Given the description of an element on the screen output the (x, y) to click on. 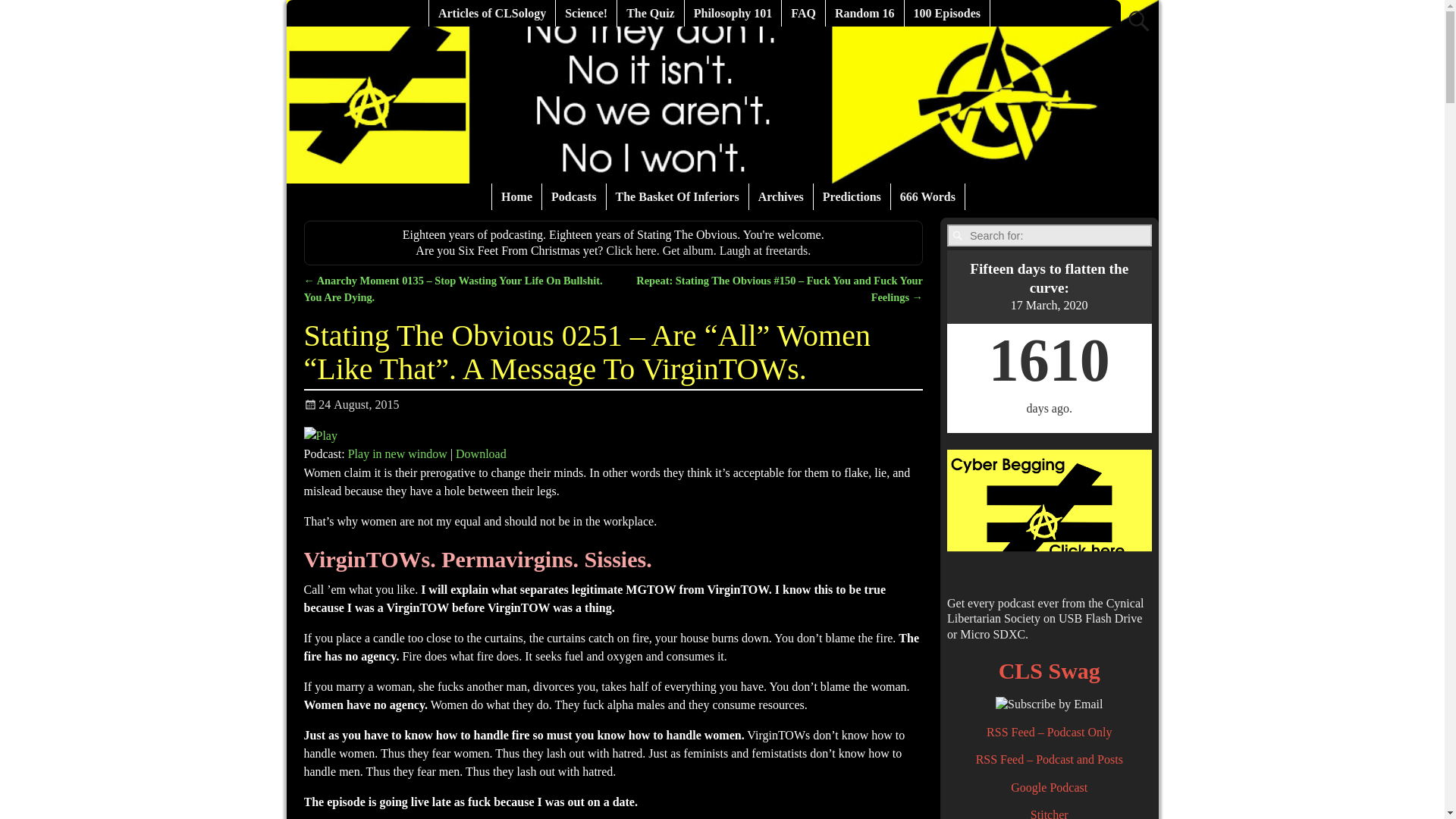
Science! (586, 13)
21:00 (350, 404)
666 Words (928, 196)
Random 16 (864, 13)
The Quiz (650, 13)
100 Episodes (947, 13)
The Basket Of Inferiors (678, 196)
Download (480, 453)
Play in new window (396, 453)
Home (516, 196)
